Given the description of an element on the screen output the (x, y) to click on. 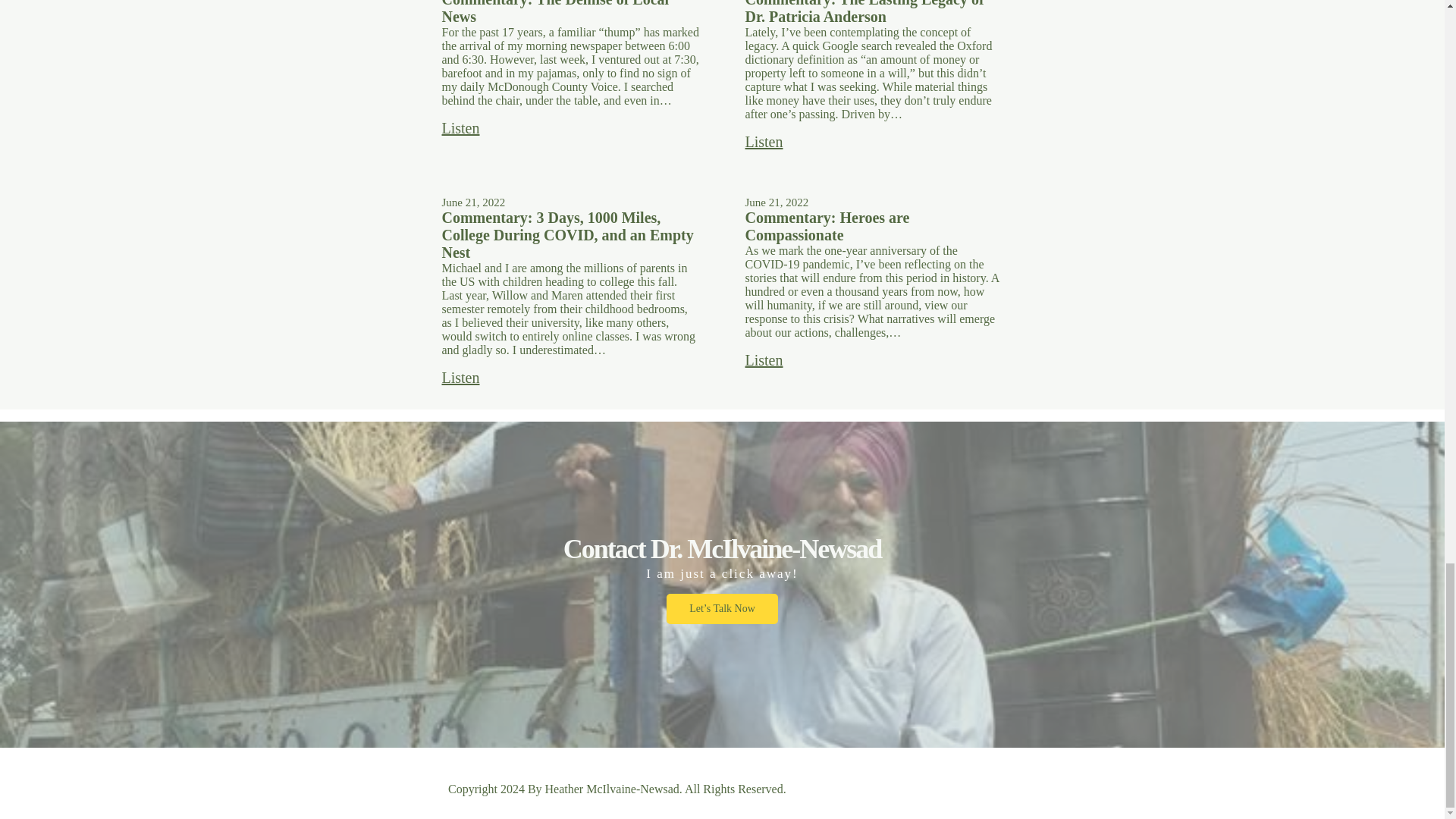
Listen (763, 360)
Listen (460, 376)
Listen (460, 128)
Listen (763, 141)
